Given the description of an element on the screen output the (x, y) to click on. 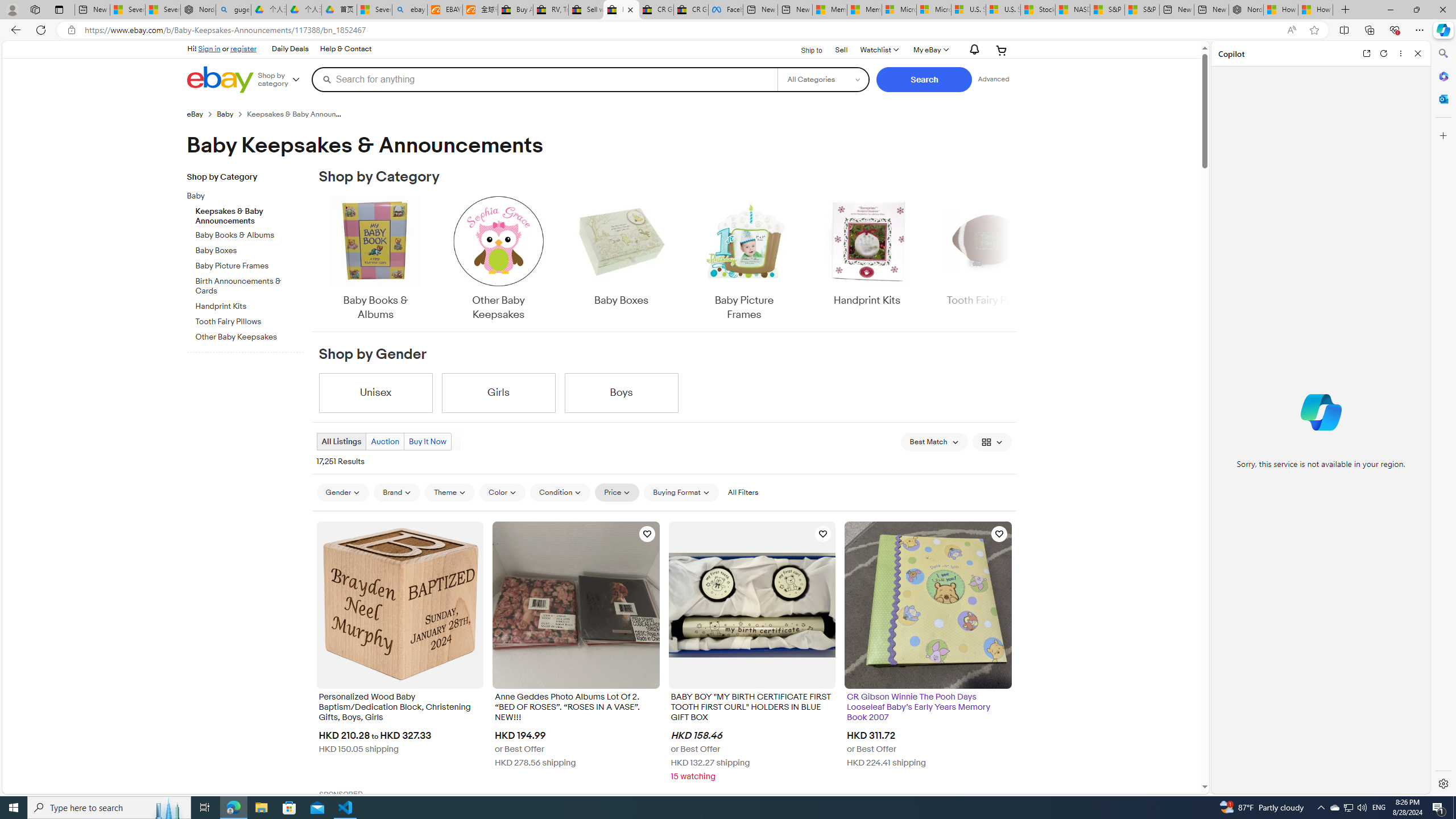
All Filters (742, 492)
Help & Contact (345, 49)
Baby Keepsakes & Announcements for sale | eBay (620, 9)
Notifications (971, 49)
eBay Home (219, 79)
Daily Deals (290, 49)
eBay Home (219, 79)
WatchlistExpand Watch List (878, 49)
Color (502, 492)
Microsoft 365 (1442, 76)
